Given the description of an element on the screen output the (x, y) to click on. 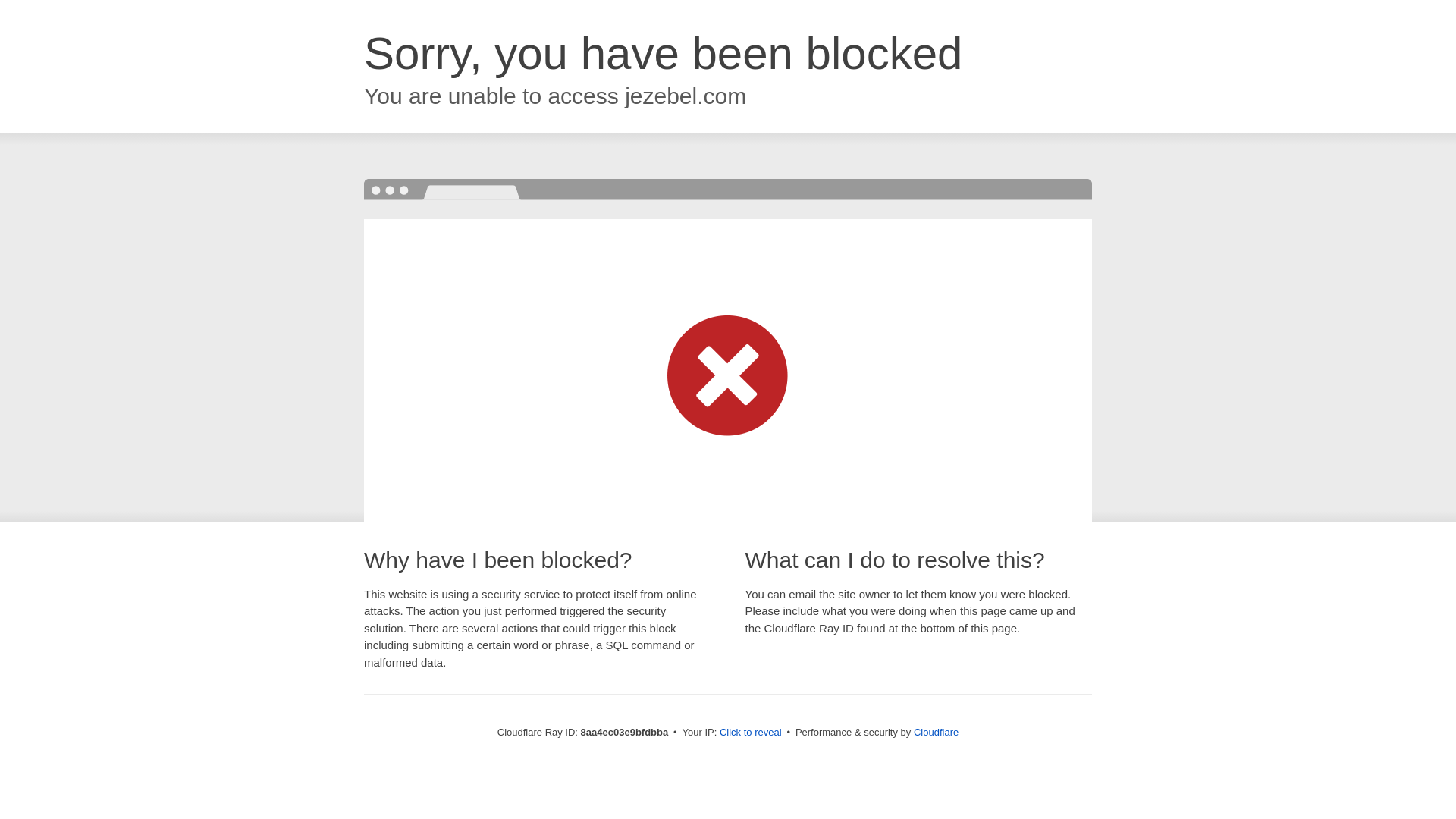
Click to reveal (750, 732)
Cloudflare (936, 731)
